Given the description of an element on the screen output the (x, y) to click on. 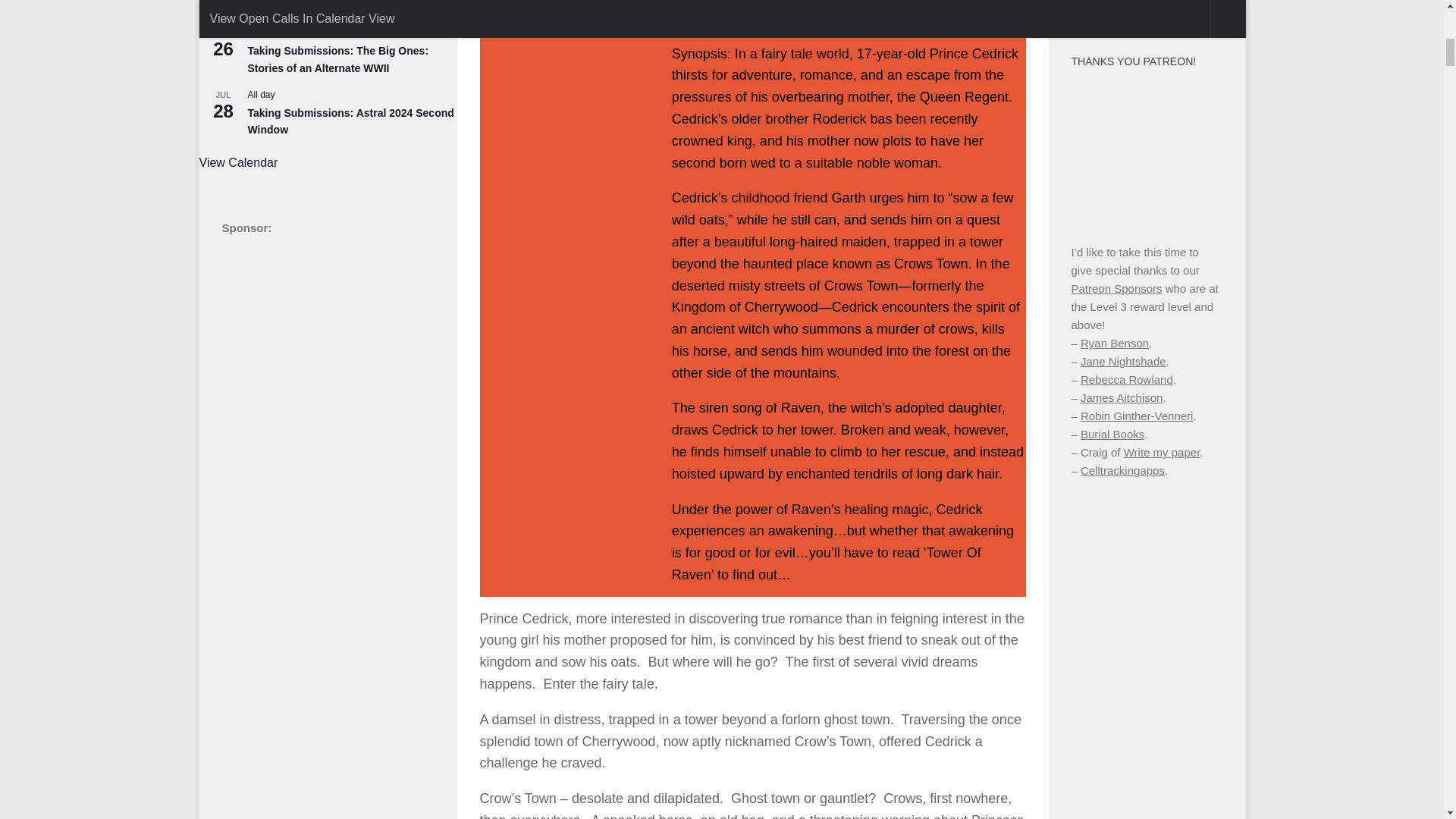
tower (560, 85)
